Given the description of an element on the screen output the (x, y) to click on. 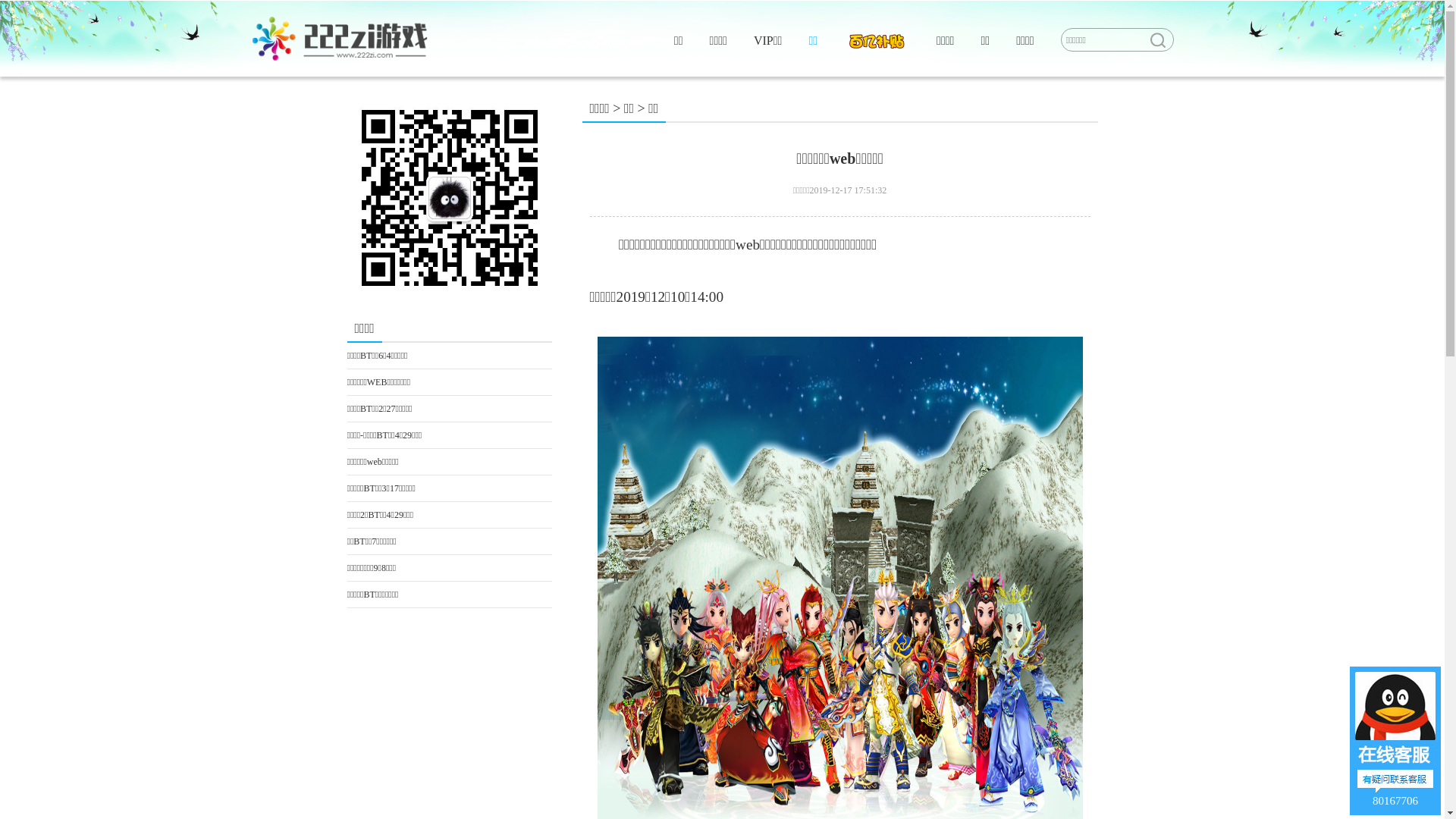
80167706 Element type: text (1394, 740)
Search Element type: hover (1156, 39)
